Given the description of an element on the screen output the (x, y) to click on. 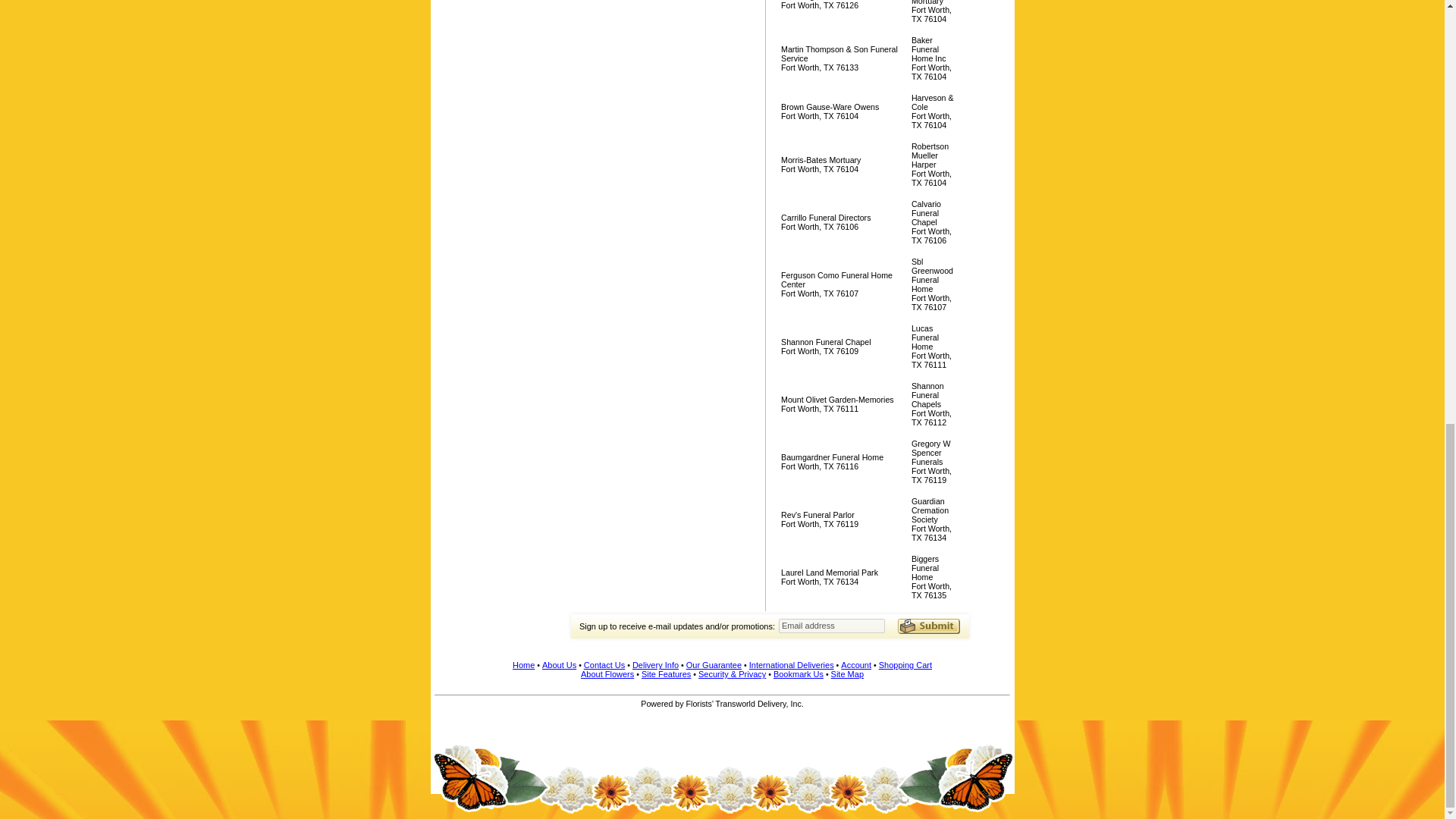
Email address (831, 626)
Home (523, 664)
